Given the description of an element on the screen output the (x, y) to click on. 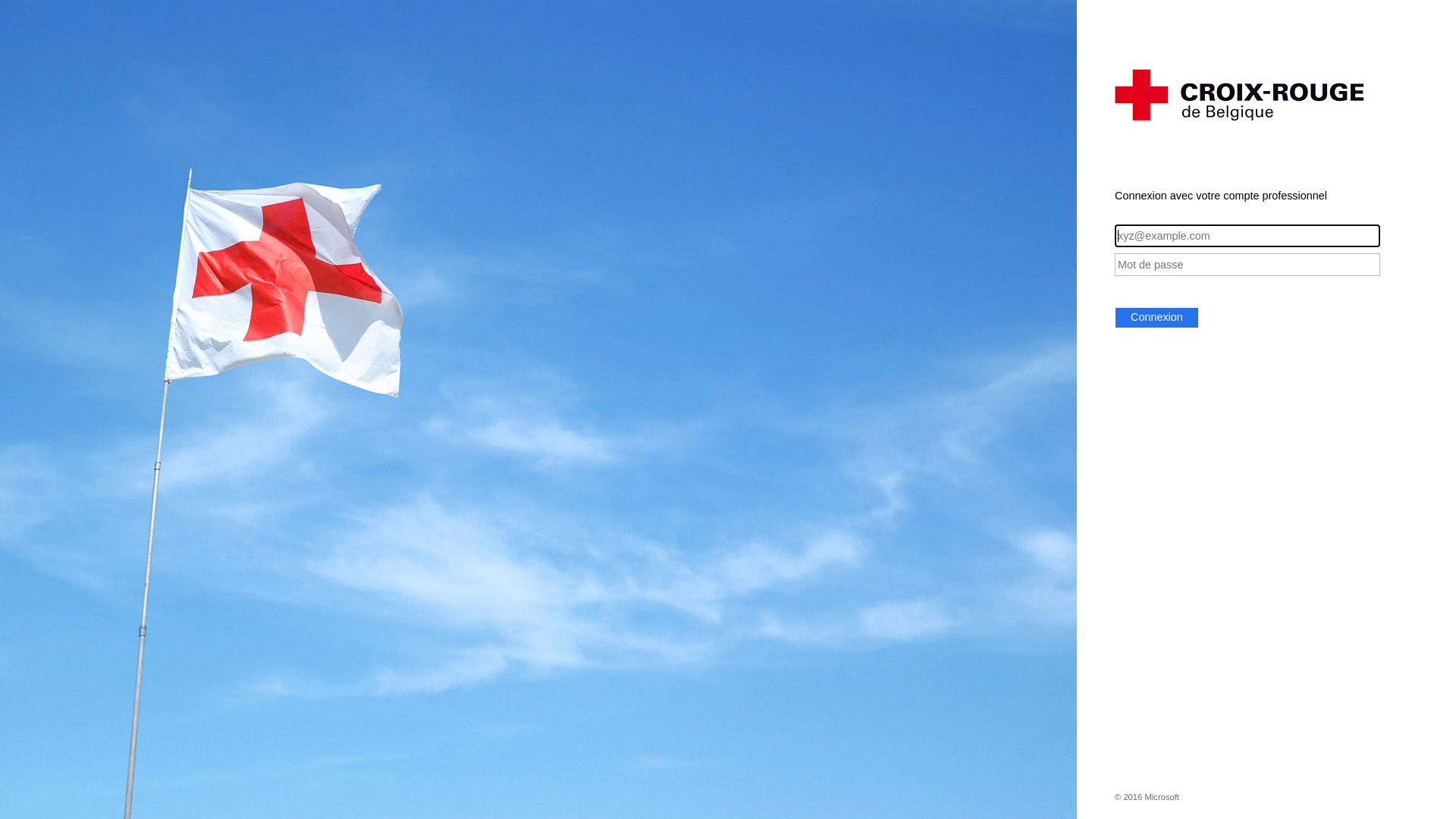
Connexion Element type: text (1156, 317)
